Given the description of an element on the screen output the (x, y) to click on. 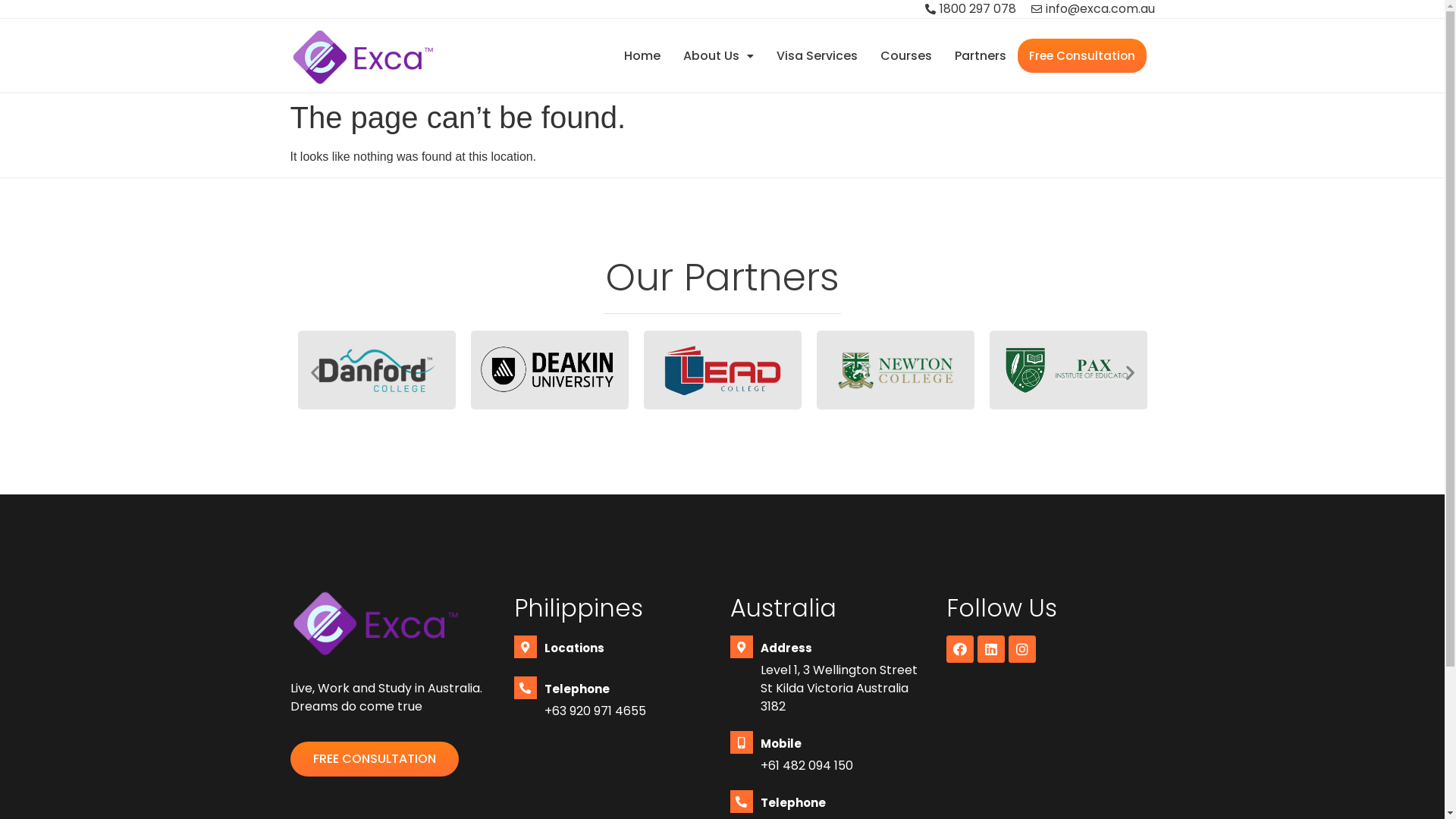
Free Consultation Element type: text (1081, 55)
Partners Element type: text (980, 55)
Visa Services Element type: text (817, 55)
About Us Element type: text (718, 55)
Locations Element type: text (574, 647)
Courses Element type: text (906, 55)
FREE CONSULTATION Element type: text (373, 758)
Home Element type: text (641, 55)
